Given the description of an element on the screen output the (x, y) to click on. 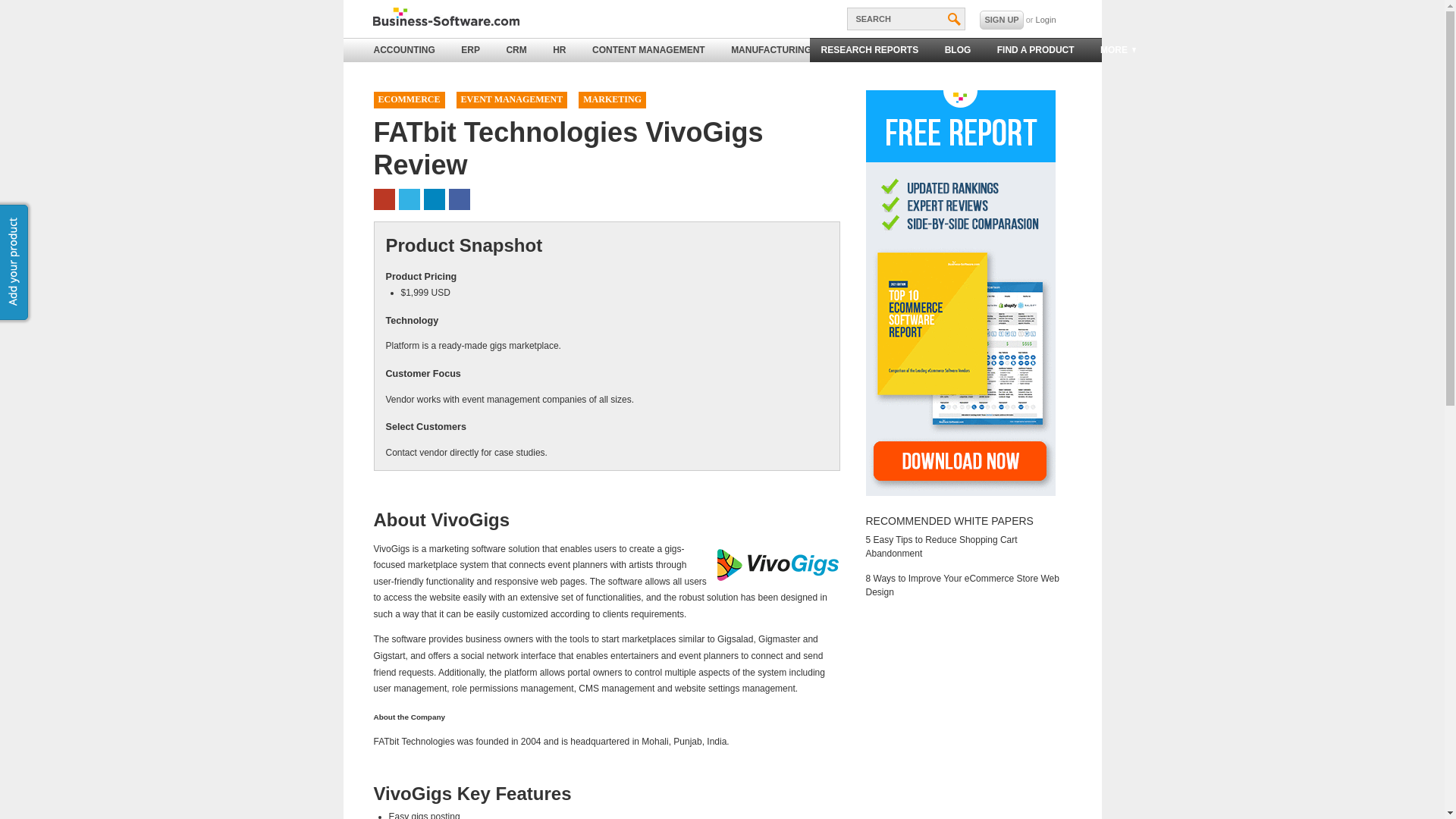
ACCOUNTING (404, 49)
SEARCH (906, 18)
MANUFACTURING (770, 49)
CONTENT MANAGEMENT (648, 49)
SIGN UP (1001, 19)
RESEARCH REPORTS (869, 49)
HR (558, 49)
ERP (470, 49)
FIND A PRODUCT (1035, 49)
BLOG (957, 49)
Login (1046, 19)
SEARCH (906, 18)
CRM (516, 49)
LOGIN (1046, 19)
FATbit Technologies VivoGigs (777, 564)
